Given the description of an element on the screen output the (x, y) to click on. 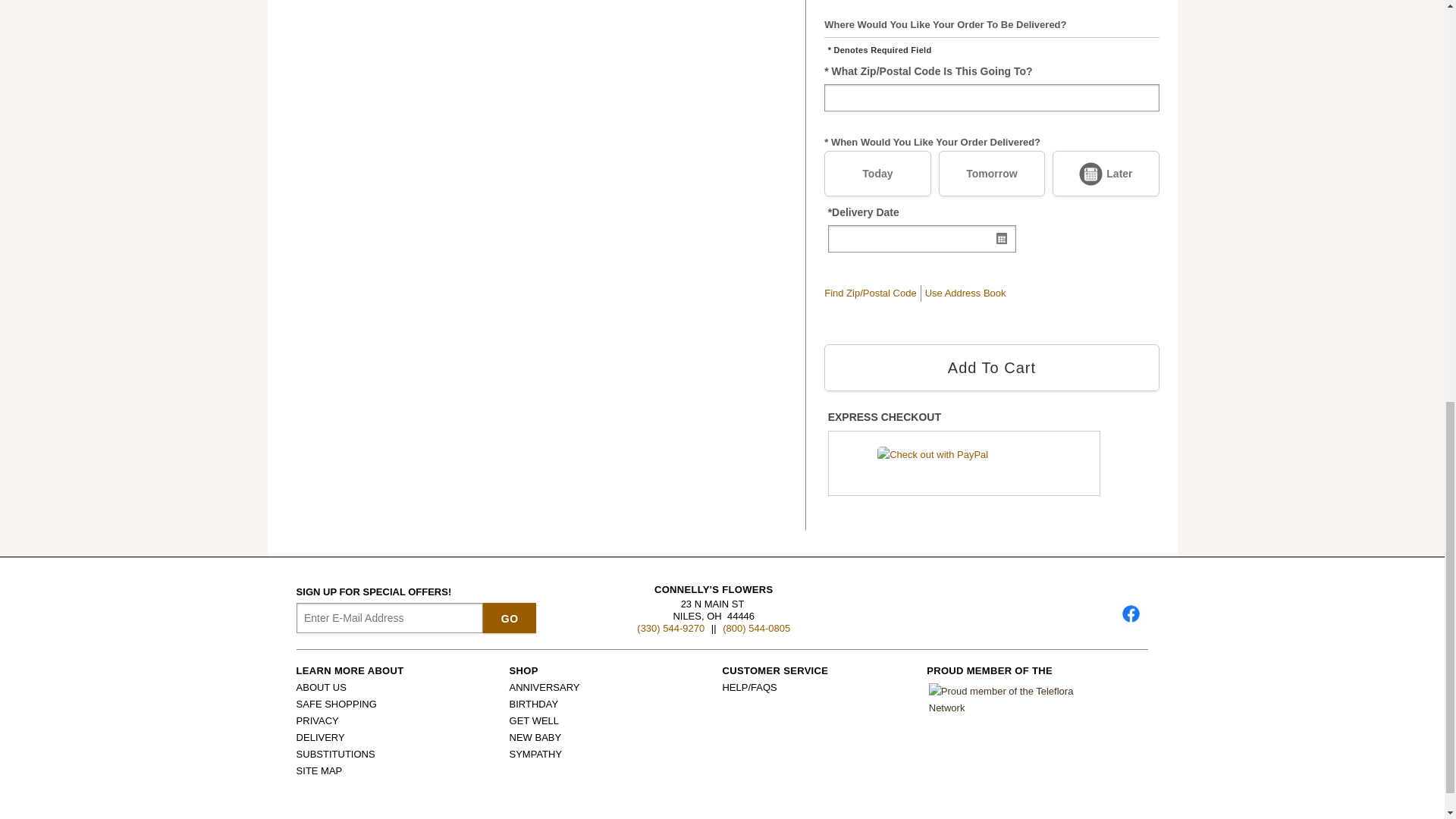
Go (509, 617)
go (509, 617)
Email Sign up (390, 617)
